Given the description of an element on the screen output the (x, y) to click on. 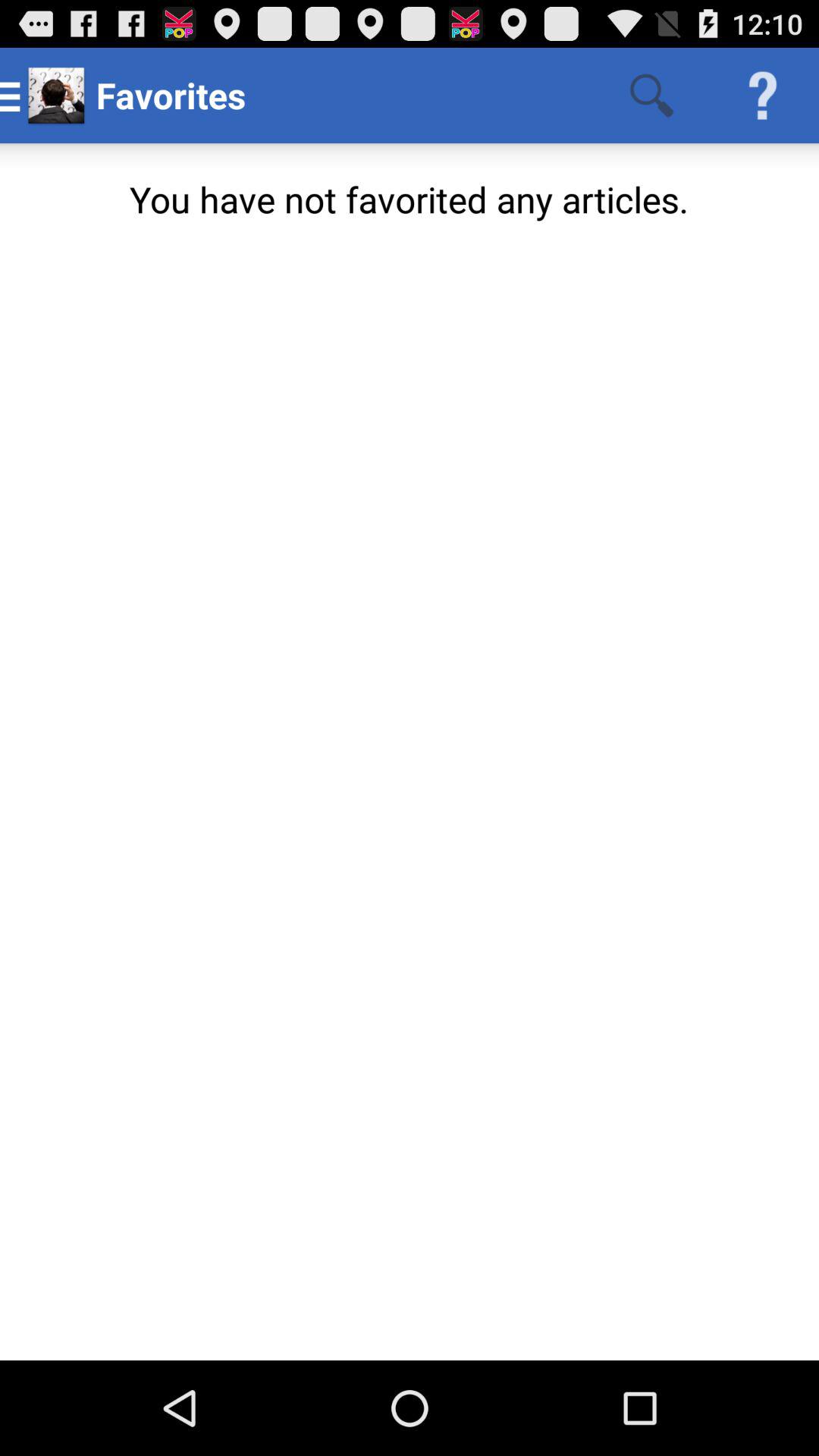
select app above the you have not app (763, 95)
